Given the description of an element on the screen output the (x, y) to click on. 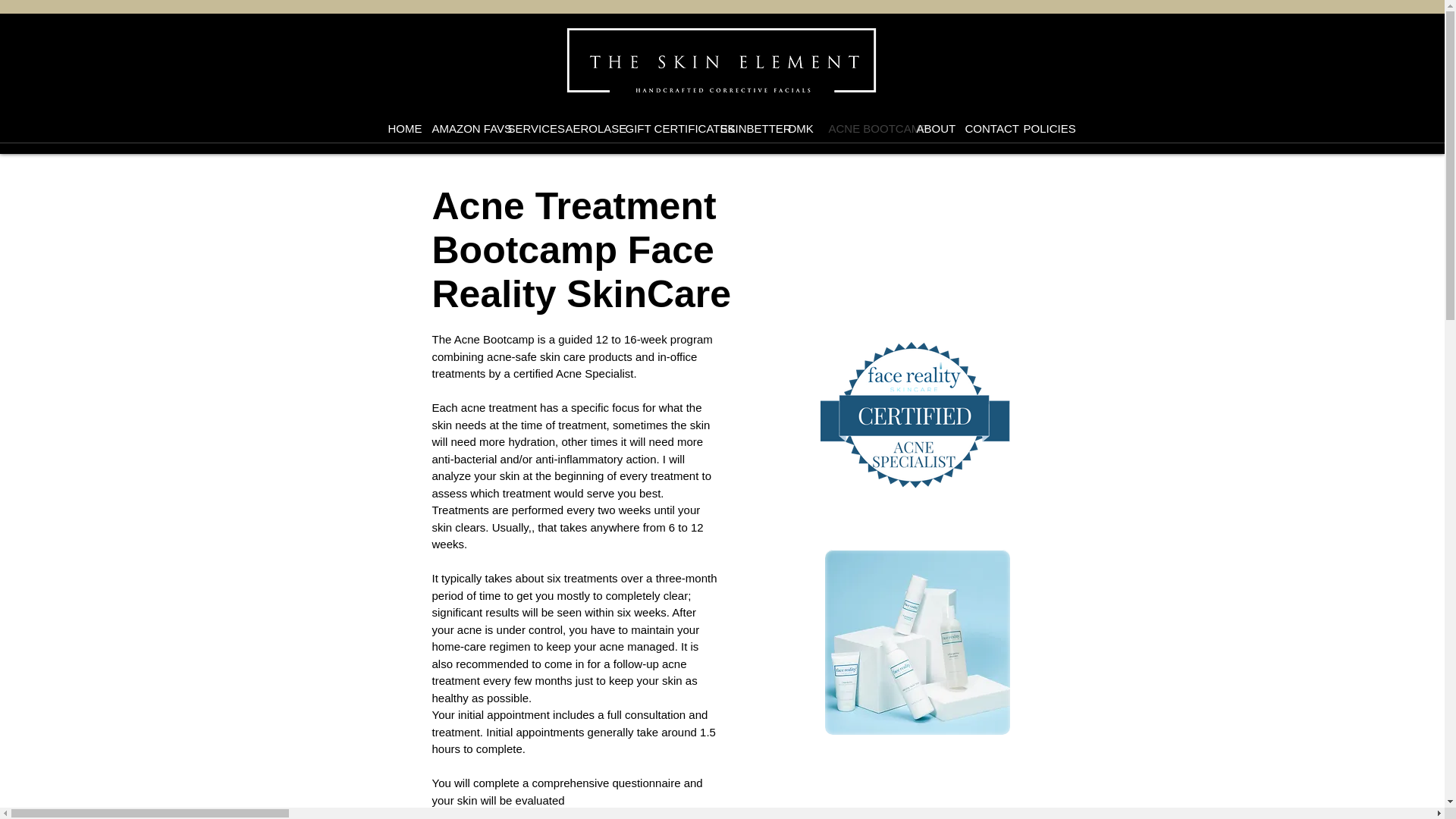
AMAZON FAVS (458, 128)
HOME (397, 128)
SERVICES (524, 128)
POLICIES (1039, 128)
SKINBETTER (741, 128)
DMK (796, 128)
AEROLASE (582, 128)
CONTACT (982, 128)
ACNE BOOTCAMP (860, 128)
GIFT CERTIFICATES (661, 128)
